Given the description of an element on the screen output the (x, y) to click on. 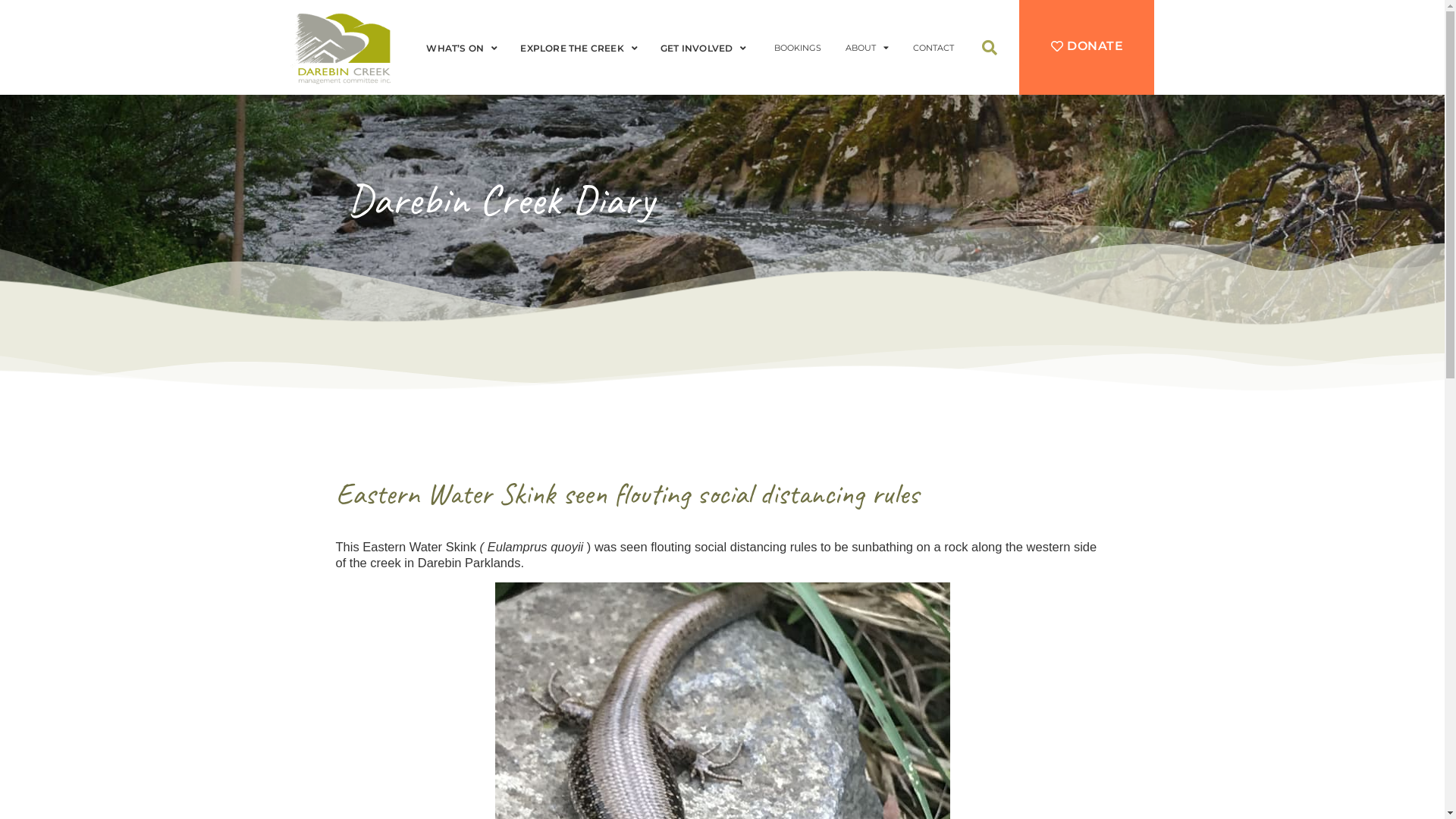
CONTACT Element type: text (933, 47)
ABOUT Element type: text (866, 47)
EXPLORE THE CREEK Element type: text (582, 48)
GET INVOLVED Element type: text (707, 48)
BOOKINGS Element type: text (797, 47)
DONATE Element type: text (1087, 46)
